Given the description of an element on the screen output the (x, y) to click on. 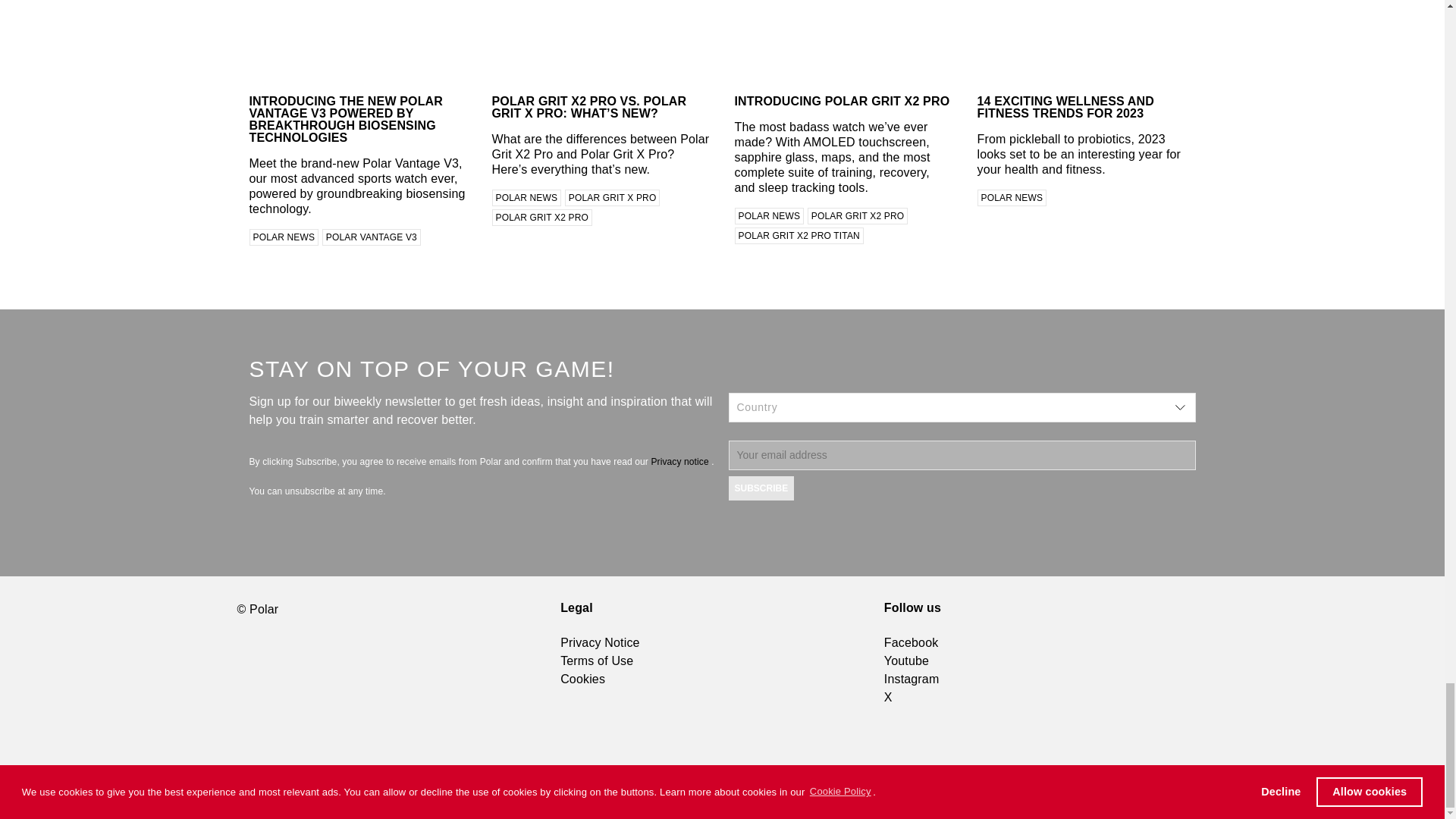
View all posts in category Polar News (1011, 197)
Subscribe (760, 487)
View all posts in category Polar News (283, 237)
View all posts in category Polar News (768, 216)
View all posts tagged with Polar Vantage V3 (370, 237)
View all posts tagged with Polar Grit X2 Pro Titan (798, 235)
View all posts tagged with Polar Grit X Pro (612, 197)
View all posts tagged with Polar Grit X2 Pro (542, 217)
View all posts tagged with Polar Grit X2 Pro (858, 216)
View all posts in category Polar News (526, 197)
